Given the description of an element on the screen output the (x, y) to click on. 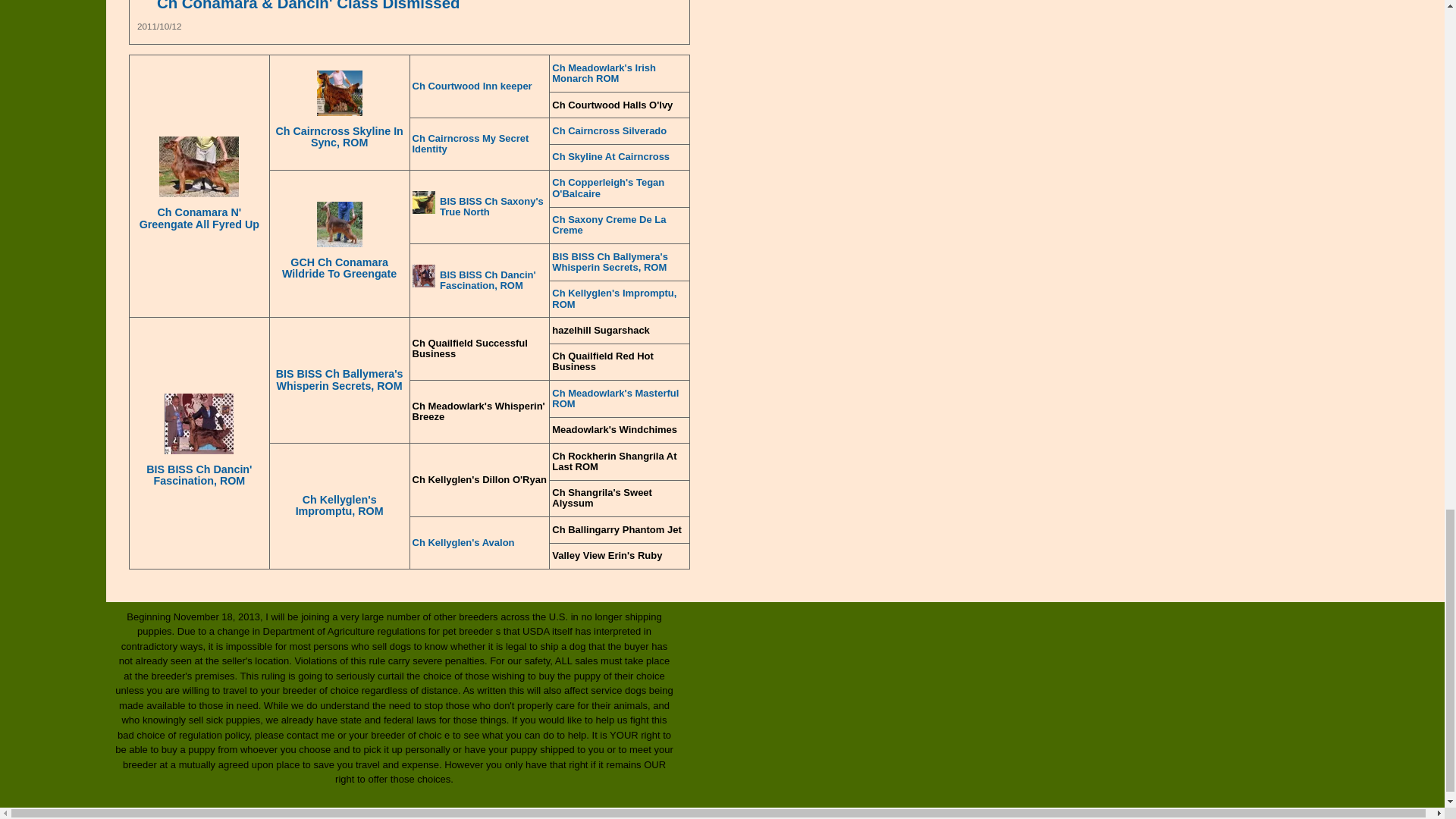
Ch Cairncross Silverado (619, 131)
Ch Conamara N' Greengate All Fyred Up (199, 218)
Ch Courtwood Halls O'Ivy (619, 104)
Ch Cairncross Skyline In Sync, ROM - OFA Good (339, 95)
Ch Meadowlark's Irish Monarch ROM (619, 74)
Ch Cairncross My Secret Identity (479, 144)
Ch Courtwood Inn keeper (479, 86)
Ch Cairncross Skyline In Sync, ROM (339, 137)
